Given the description of an element on the screen output the (x, y) to click on. 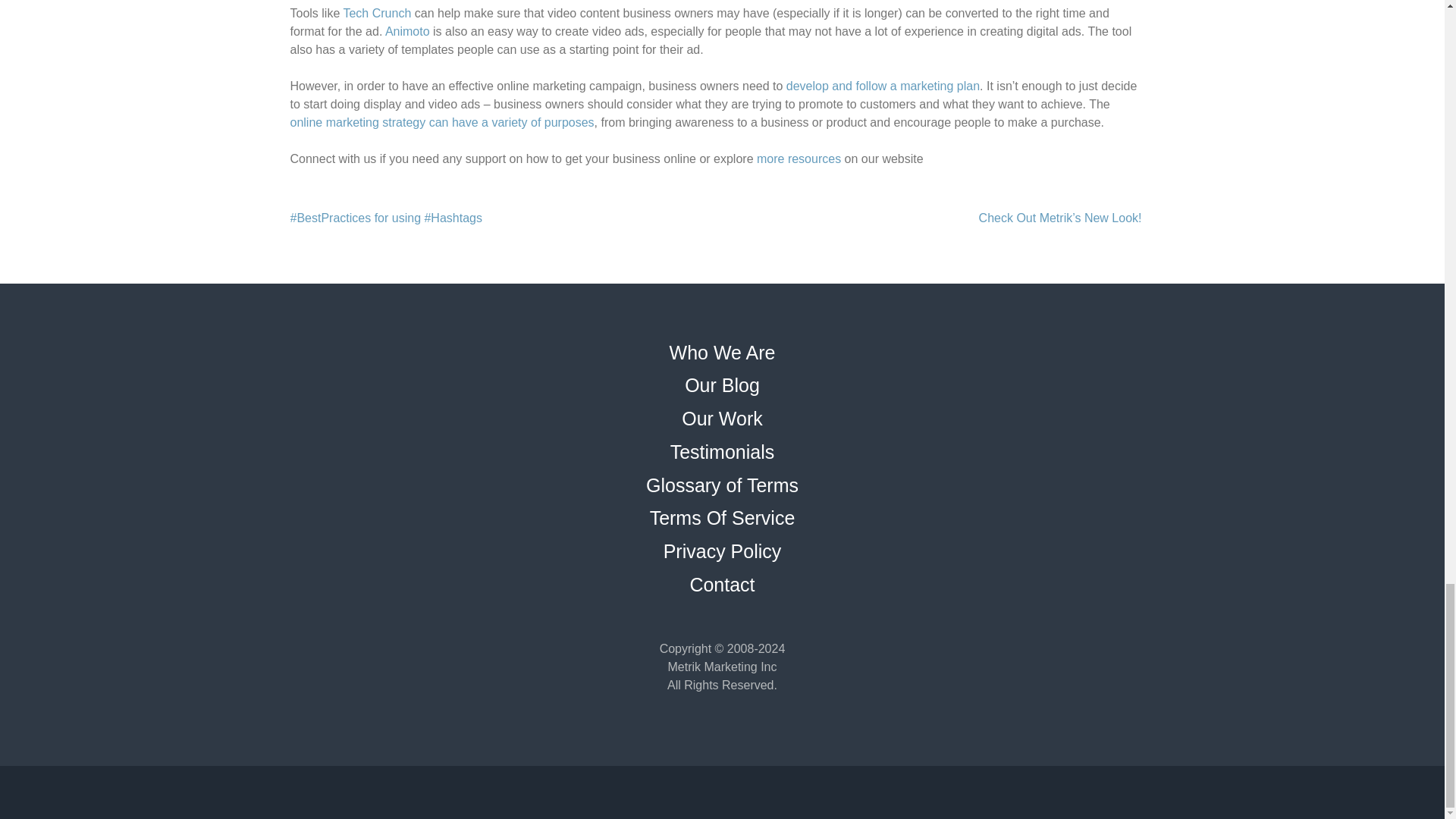
Tech Crunch (376, 12)
Our Work (721, 418)
Contact (721, 584)
develop and follow a marketing plan (882, 85)
Privacy Policy (722, 550)
Who We Are (722, 352)
Animoto (407, 31)
Our Blog (722, 384)
Terms Of Service (721, 517)
online marketing strategy can have a variety of purposes (441, 122)
Testimonials (721, 451)
more resources (799, 158)
Glossary of Terms (721, 485)
